Given the description of an element on the screen output the (x, y) to click on. 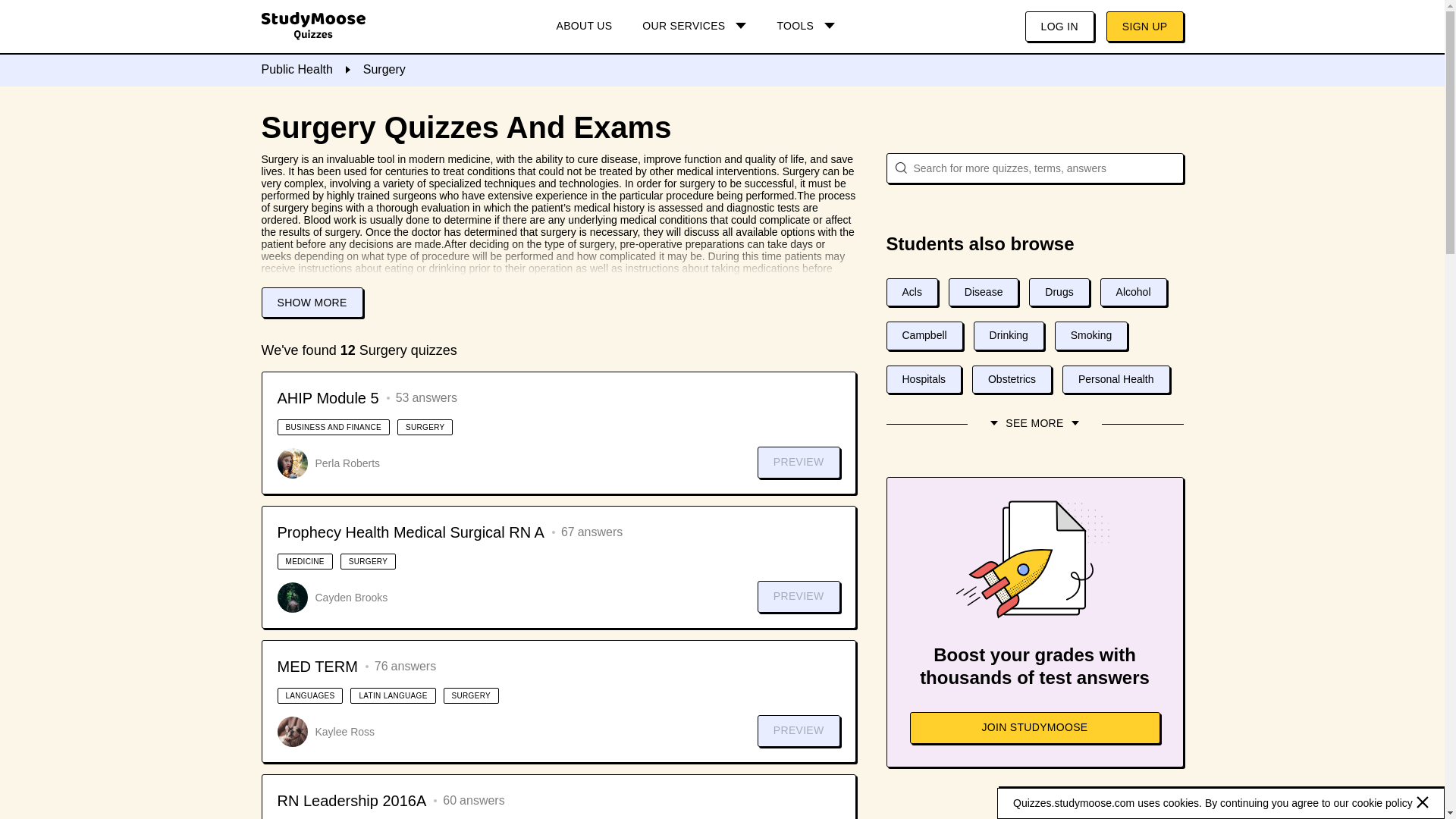
SIGN UP (1144, 26)
RN Leadership 2016A (352, 800)
TOOLS (805, 26)
Prophecy Health Medical Surgical RN A (411, 531)
OUR SERVICES (694, 26)
SHOW MORE (311, 302)
Public Health (295, 69)
ABOUT US (584, 26)
PREVIEW (798, 730)
LOG IN (1059, 26)
PREVIEW (798, 462)
AHIP Module 5 (328, 397)
MED TERM (318, 666)
PREVIEW (798, 596)
